Given the description of an element on the screen output the (x, y) to click on. 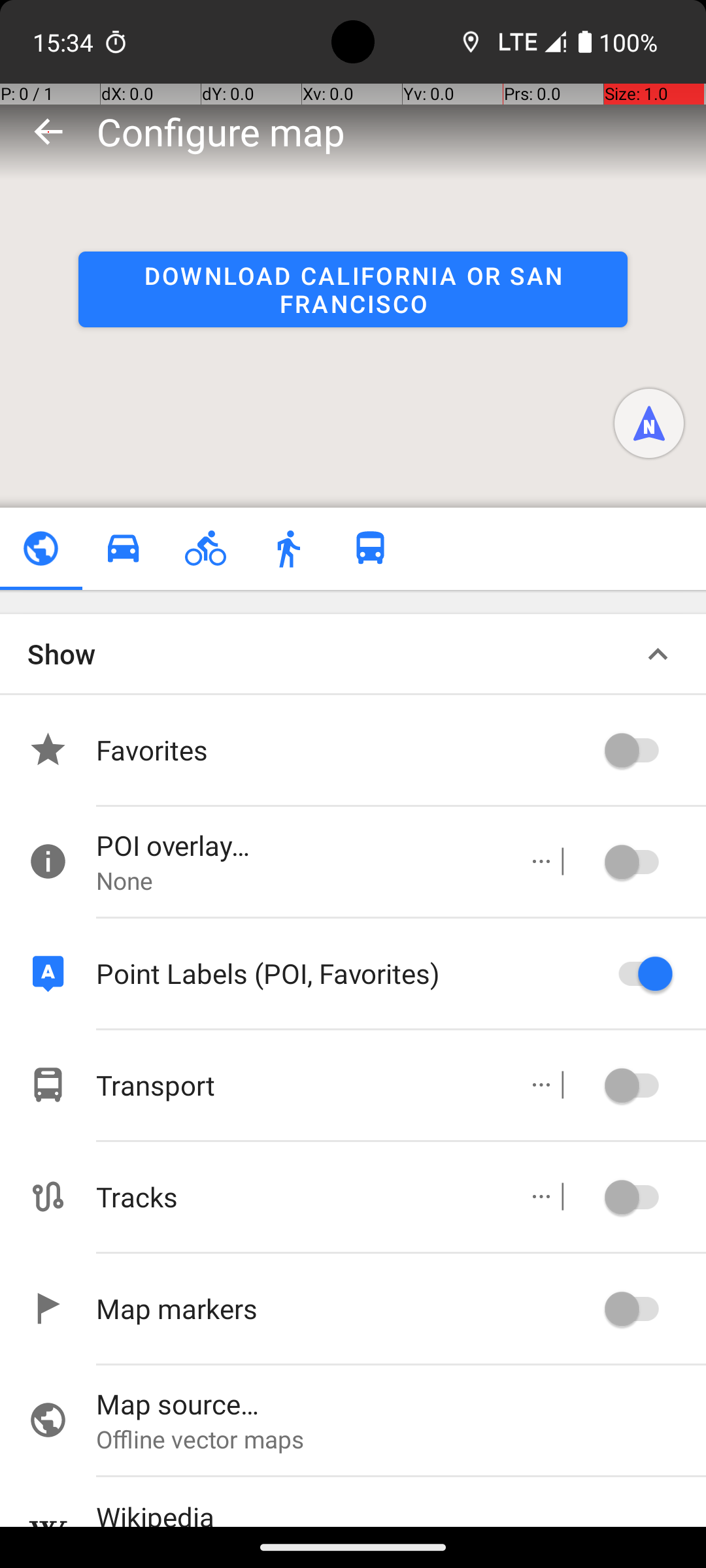
Back to map Element type: android.widget.ImageButton (48, 131)
Movement direction Element type: android.widget.ImageButton (649, 423)
DOWNLOAD CALIFORNIA OR SAN FRANCISCO Element type: android.widget.Button (352, 289)
Browse map checked Element type: android.widget.ImageView (40, 548)
Show Element type: android.widget.TextView (61, 653)
POI overlay… Element type: android.widget.TextView (298, 844)
Point Labels (POI, Favorites) Element type: android.widget.TextView (346, 972)
Transport Element type: android.widget.TextView (298, 1084)
Map source… Element type: android.widget.TextView (401, 1403)
Offline vector maps Element type: android.widget.TextView (401, 1438)
